Given the description of an element on the screen output the (x, y) to click on. 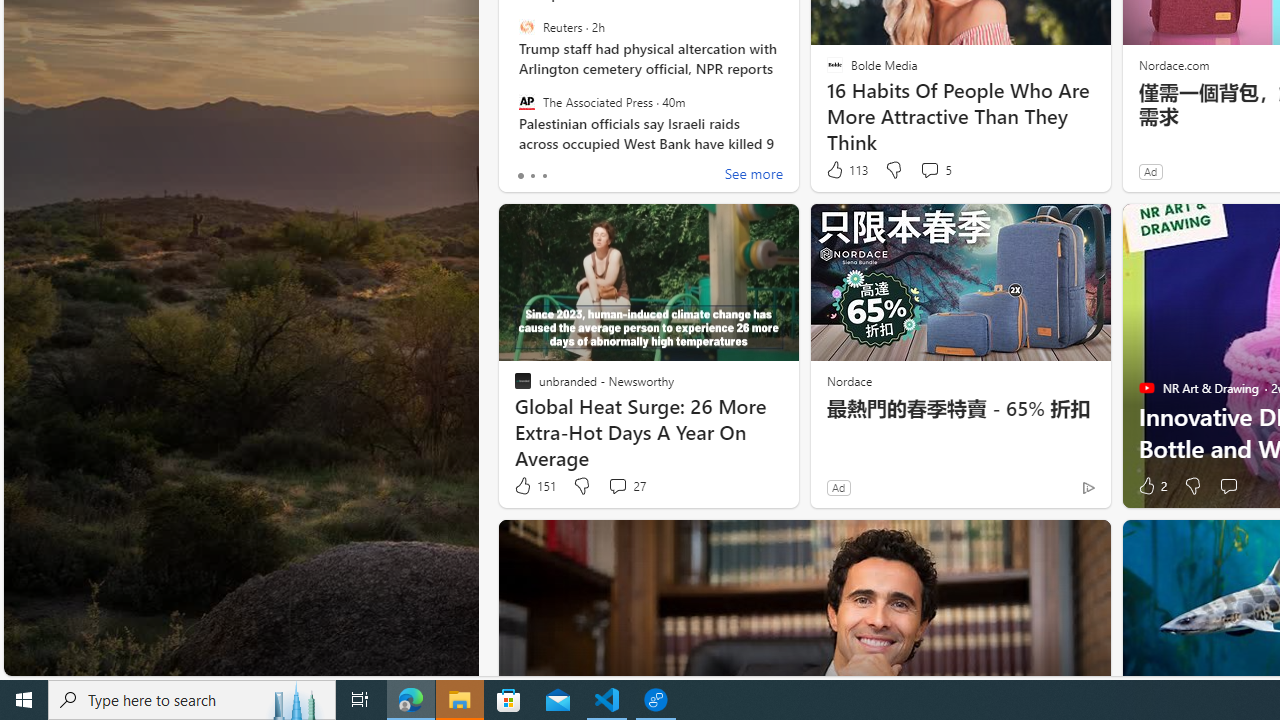
View comments 5 Comment (935, 170)
View comments 27 Comment (617, 485)
Nordace.com (1173, 64)
151 Like (534, 485)
